Given the description of an element on the screen output the (x, y) to click on. 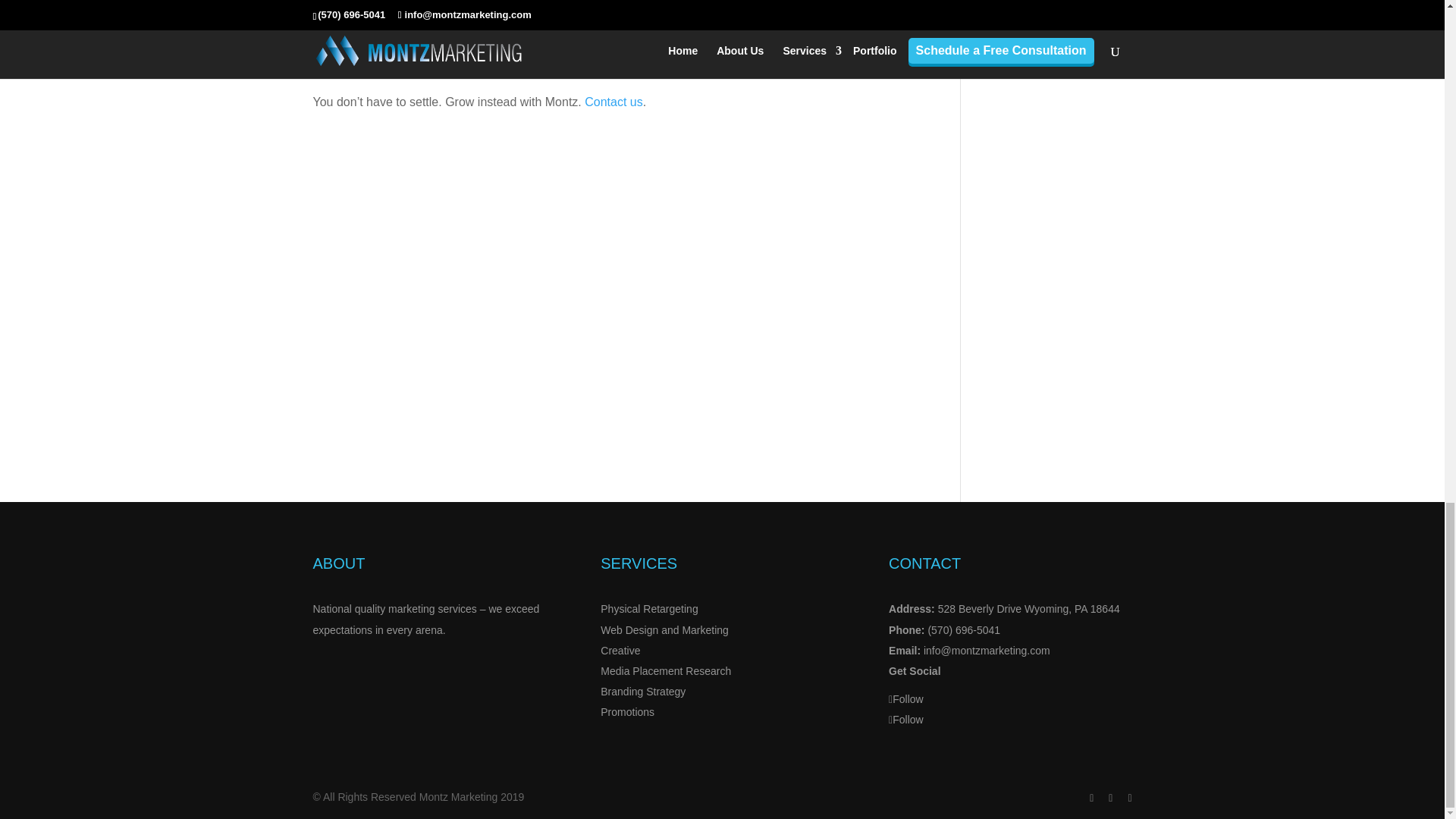
Physical Retargeting (648, 608)
Web Design and Marketing (664, 630)
Follow on Facebook (905, 698)
Contact us (613, 101)
Promotions (626, 711)
Follow (905, 719)
Follow (905, 698)
Follow on Instagram (905, 719)
Branding Strategy (642, 691)
Creative (619, 650)
Media Placement Research (664, 671)
528 Beverly Drive Wyoming, PA 18644 (1028, 608)
